Given the description of an element on the screen output the (x, y) to click on. 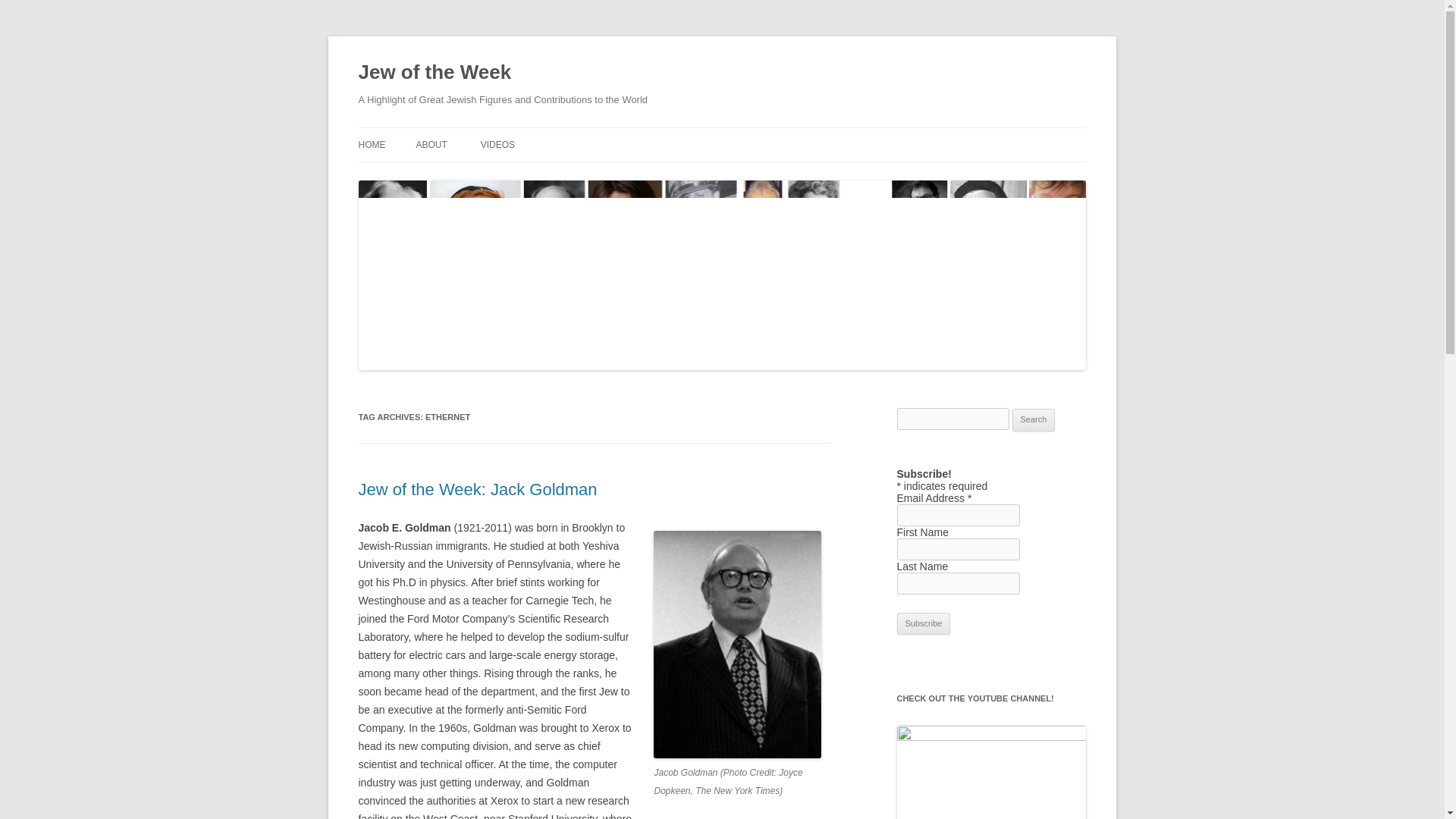
Search (1033, 419)
VIDEOS (497, 144)
Search (1033, 419)
Jew of the Week (434, 72)
ABOUT (430, 144)
Subscribe (923, 623)
Jew of the Week: Jack Goldman (477, 488)
Jew of the Week (434, 72)
